Given the description of an element on the screen output the (x, y) to click on. 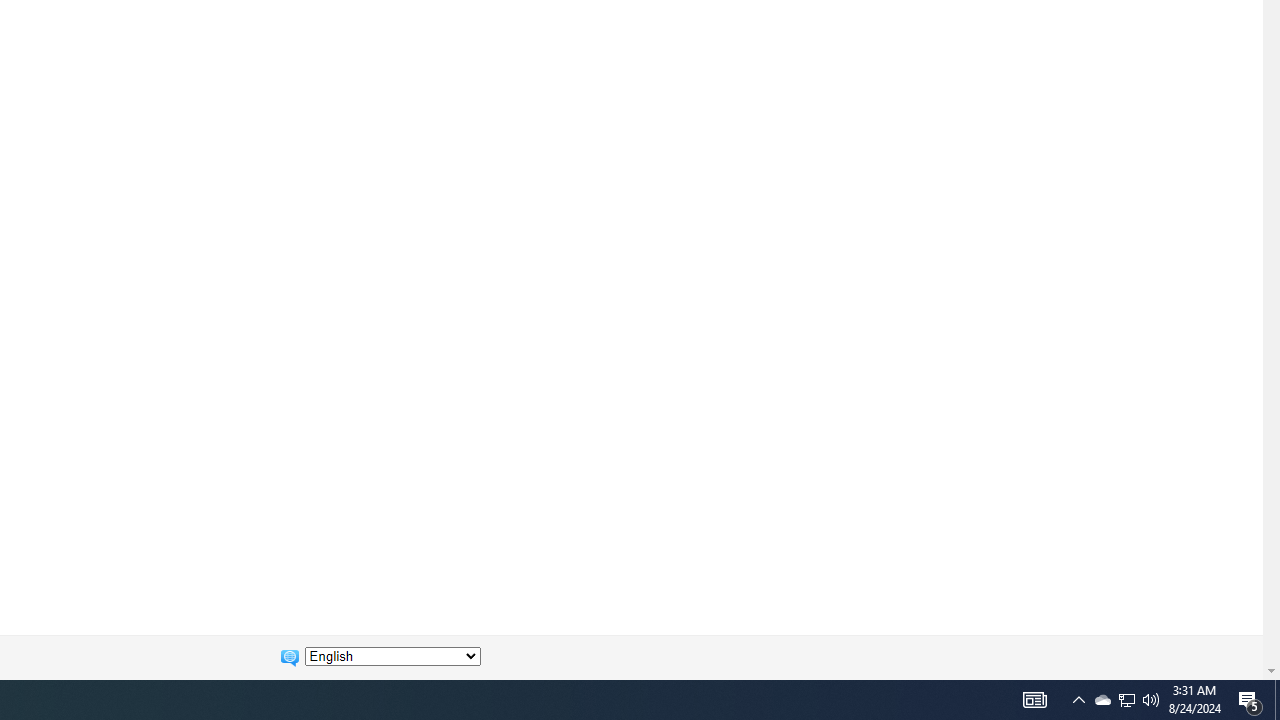
Change language: (392, 656)
